Given the description of an element on the screen output the (x, y) to click on. 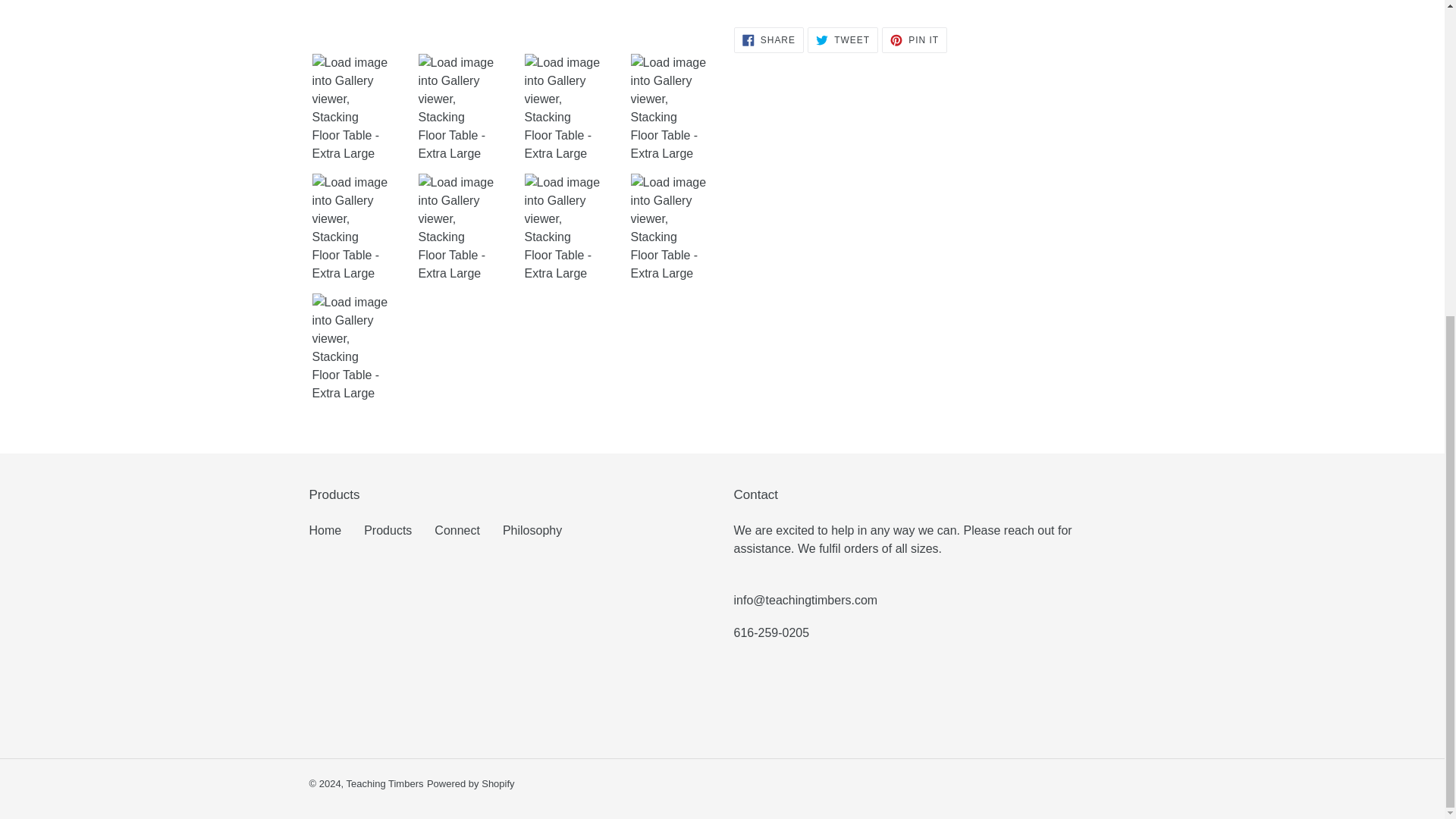
Powered by Shopify (470, 783)
Philosophy (768, 40)
Home (532, 530)
Connect (325, 530)
Teaching Timbers (456, 530)
Products (842, 40)
